Given the description of an element on the screen output the (x, y) to click on. 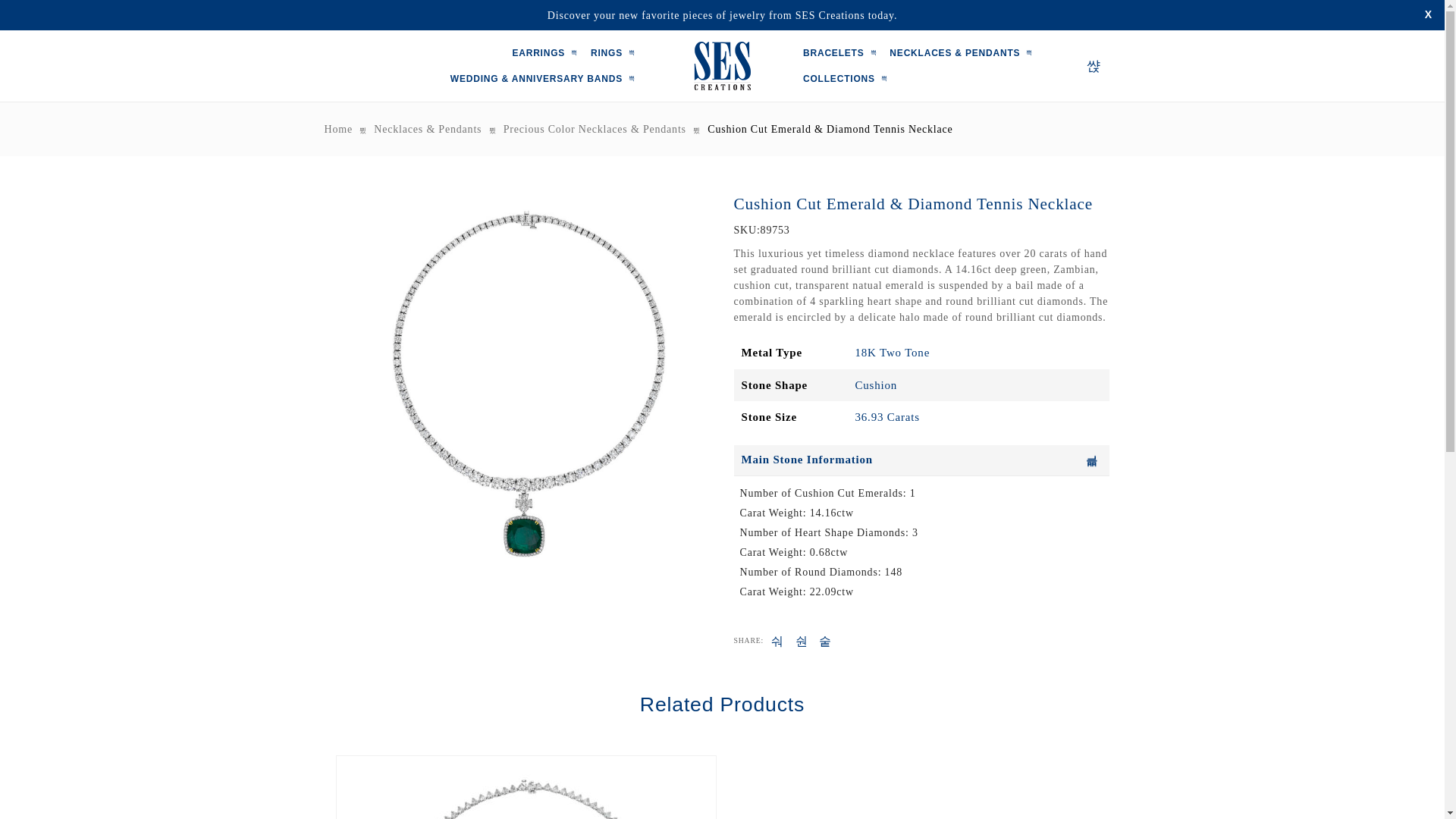
BRACELETS (842, 53)
RINGS (616, 53)
Share to pinterest (824, 640)
SES Creations (721, 65)
COLLECTIONS (847, 78)
EARRINGS (547, 53)
Share to facebook (777, 640)
Share to twitter (801, 640)
